Given the description of an element on the screen output the (x, y) to click on. 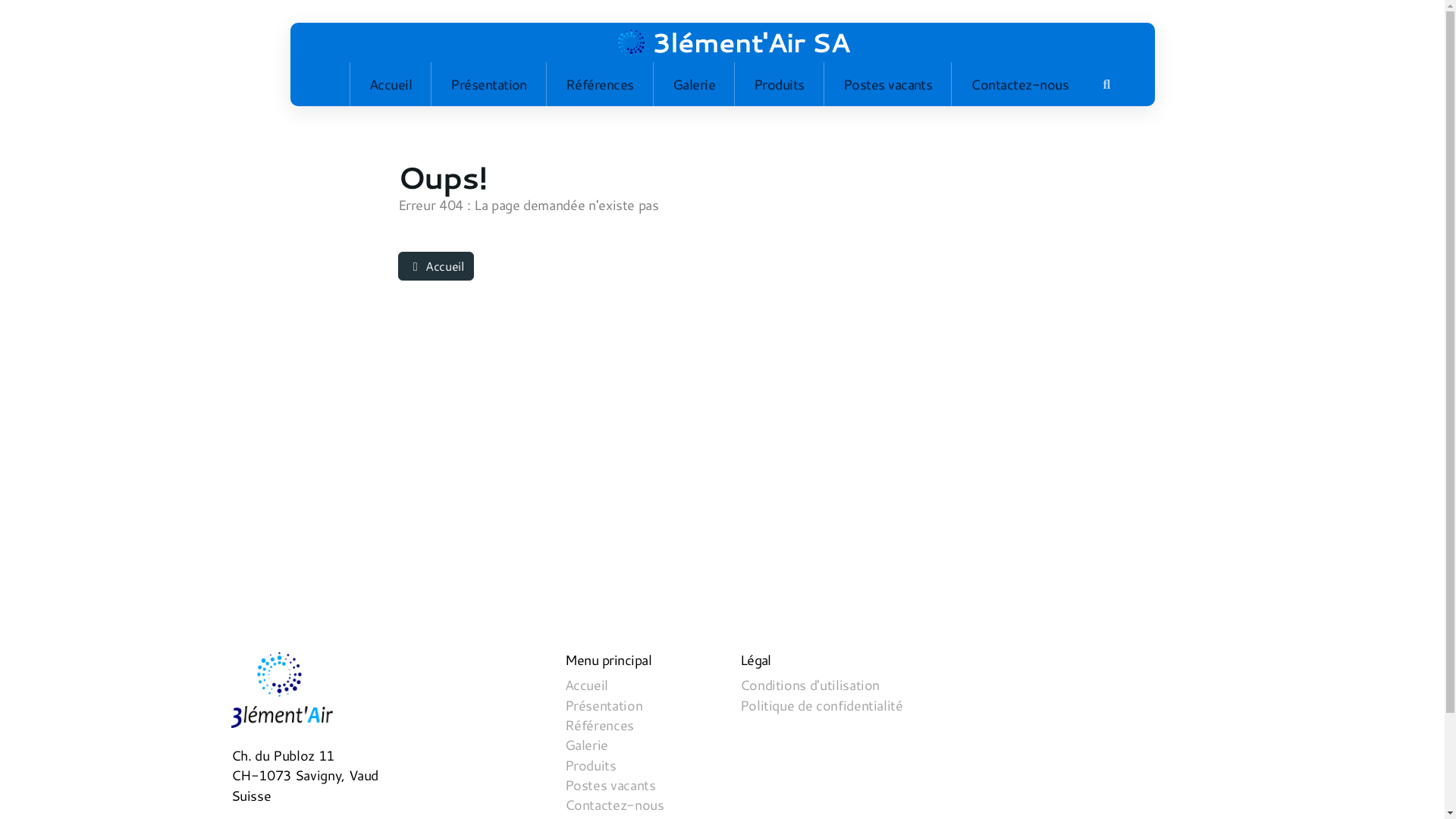
Produits Element type: text (779, 84)
Conditions d'utilisation Element type: text (810, 684)
Galerie Element type: text (693, 84)
Postes vacants Element type: text (888, 84)
Accueil Element type: text (435, 265)
Accueil Element type: text (586, 684)
Contactez-nous Element type: text (613, 804)
Contactez-nous Element type: text (1019, 83)
Accueil Element type: text (390, 84)
Postes vacants Element type: text (609, 784)
Produits Element type: text (589, 765)
Galerie Element type: text (586, 744)
